Given the description of an element on the screen output the (x, y) to click on. 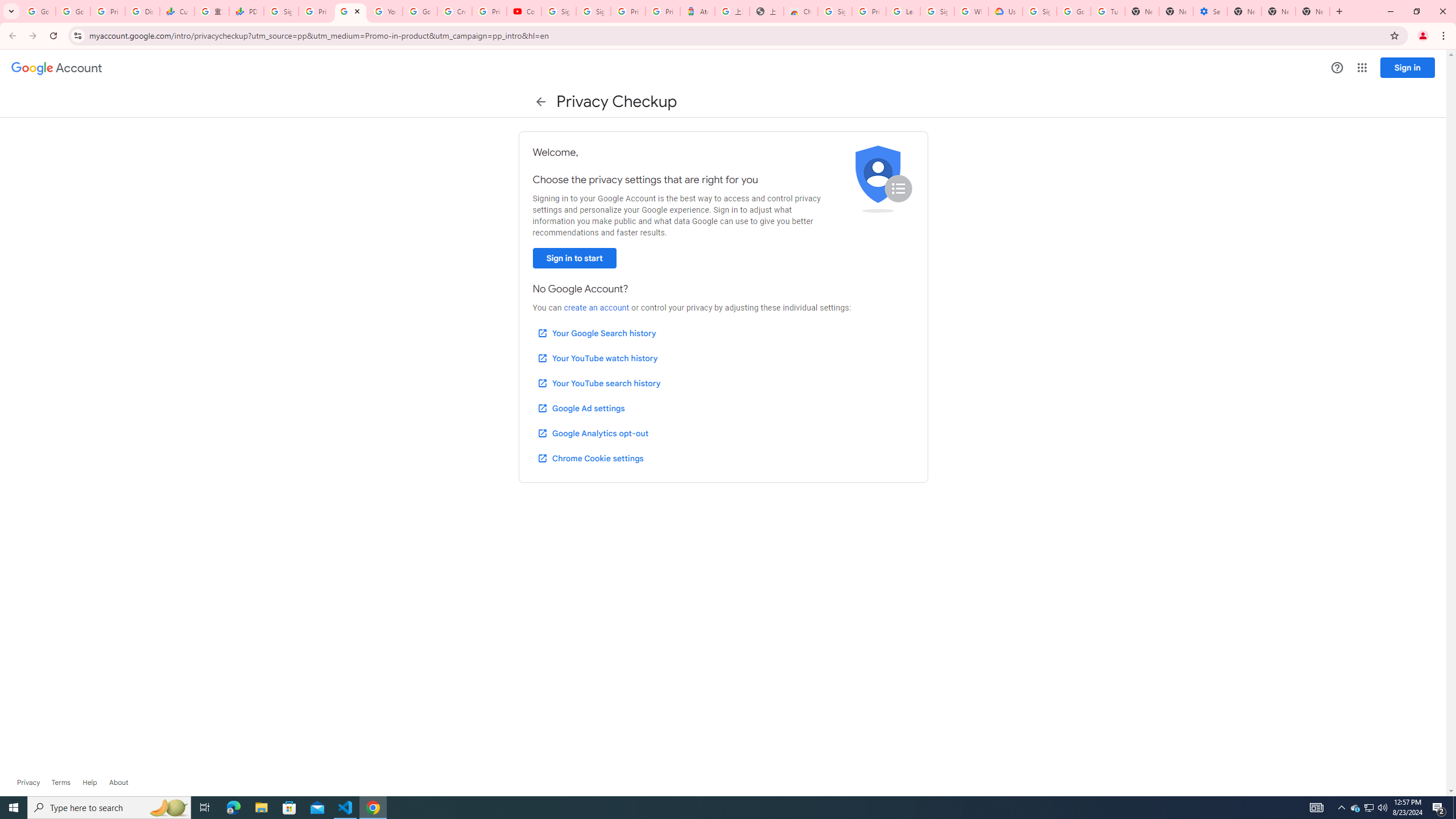
Your YouTube watch history (597, 358)
Sign in - Google Accounts (834, 11)
Turn cookies on or off - Computer - Google Account Help (1107, 11)
Google Analytics opt-out (592, 433)
Settings - Addresses and more (1209, 11)
Your YouTube search history (598, 383)
YouTube (384, 11)
Chrome Cookie settings (589, 457)
Content Creator Programs & Opportunities - YouTube Creators (524, 11)
